Given the description of an element on the screen output the (x, y) to click on. 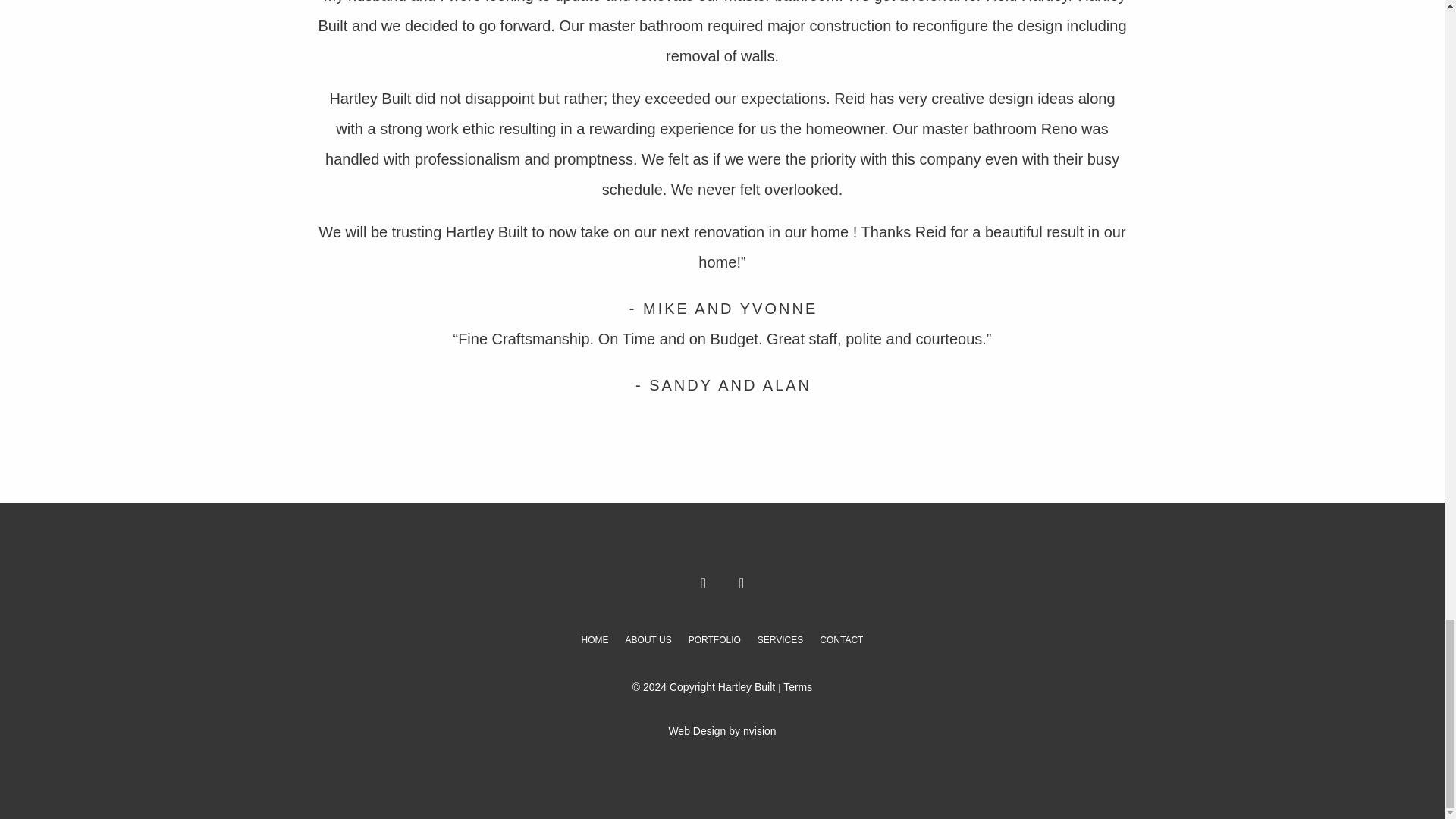
SERVICES (780, 639)
HOME (594, 639)
Terms (797, 686)
CONTACT (841, 639)
PORTFOLIO (714, 639)
ABOUT US (648, 639)
